Given the description of an element on the screen output the (x, y) to click on. 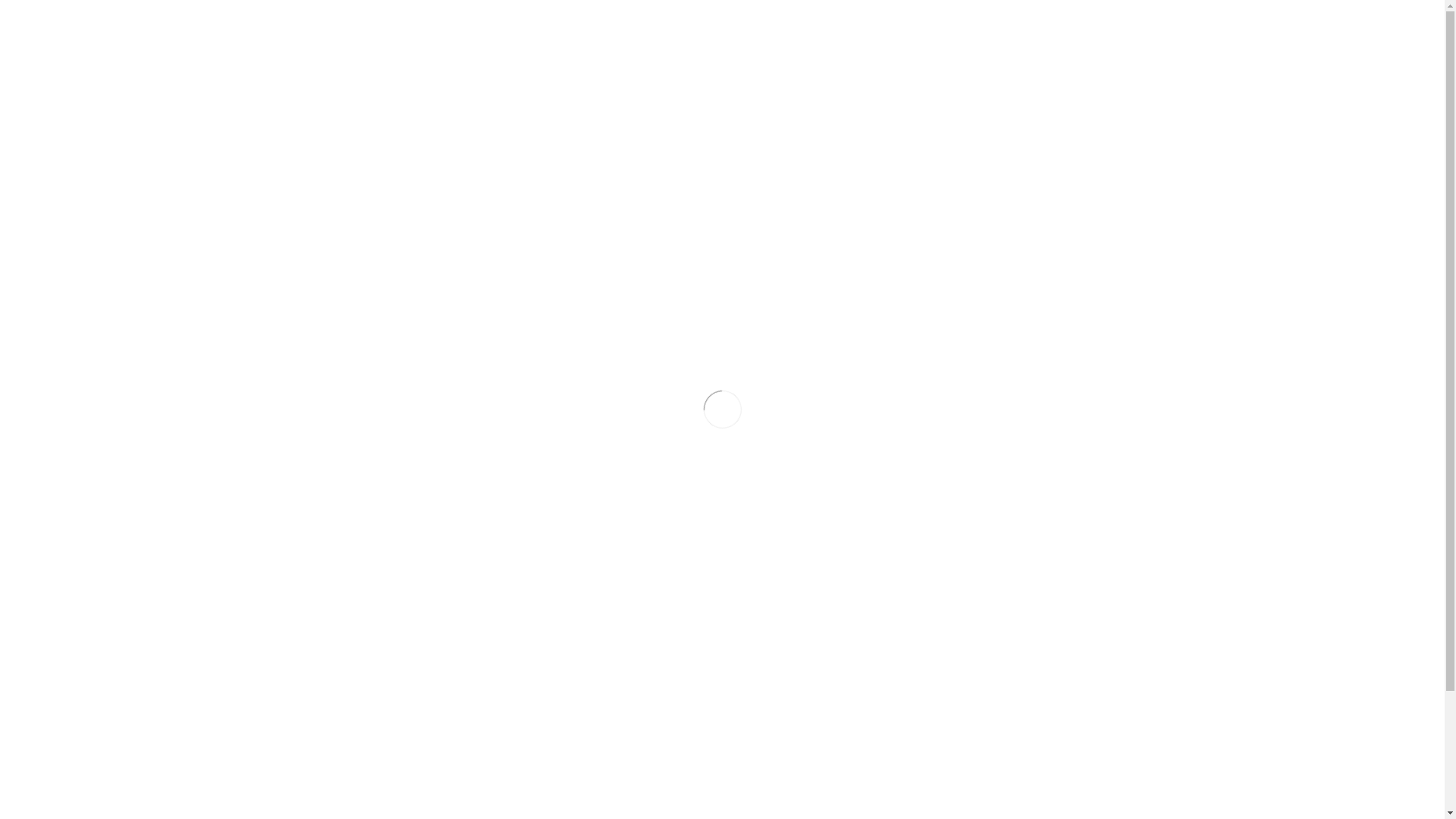
SERVICING Element type: text (767, 150)
SEARCH Element type: text (793, 24)
STACER Element type: text (549, 150)
INSURANCE Element type: text (906, 150)
HOME Element type: text (373, 150)
sales@newcastleyamaha.com.au Element type: text (444, 24)
Home Element type: text (671, 293)
02 4947 0055 Element type: text (327, 24)
POLYCRAFT Element type: text (631, 150)
FINANCE Element type: text (836, 150)
CONTACT & ABOUT US Element type: text (1007, 150)
YAMAHA OUTBOARDS Element type: text (446, 150)
USED Element type: text (707, 150)
